Given the description of an element on the screen output the (x, y) to click on. 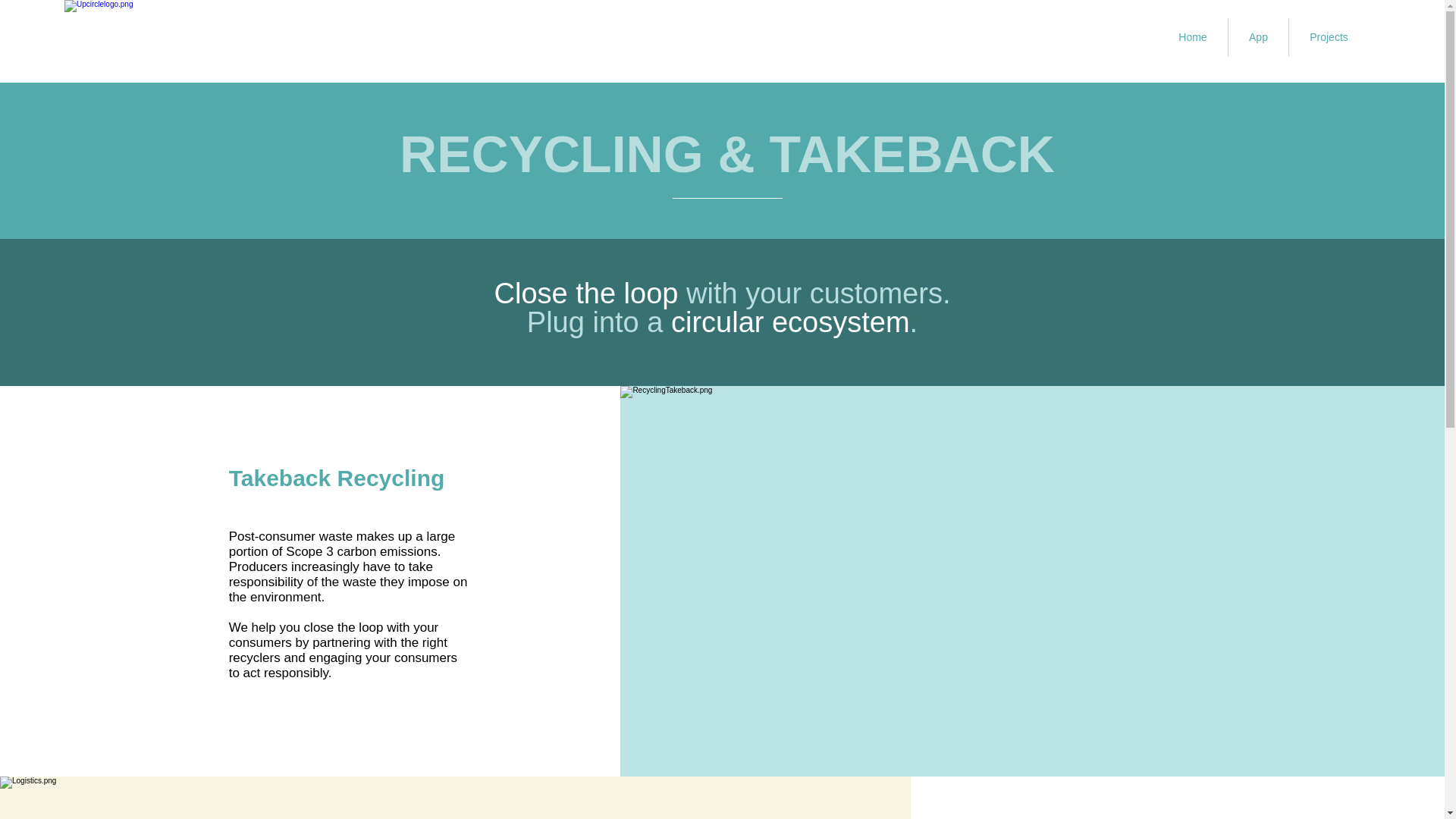
Projects (1328, 37)
App (1258, 37)
Home (1192, 37)
